Given the description of an element on the screen output the (x, y) to click on. 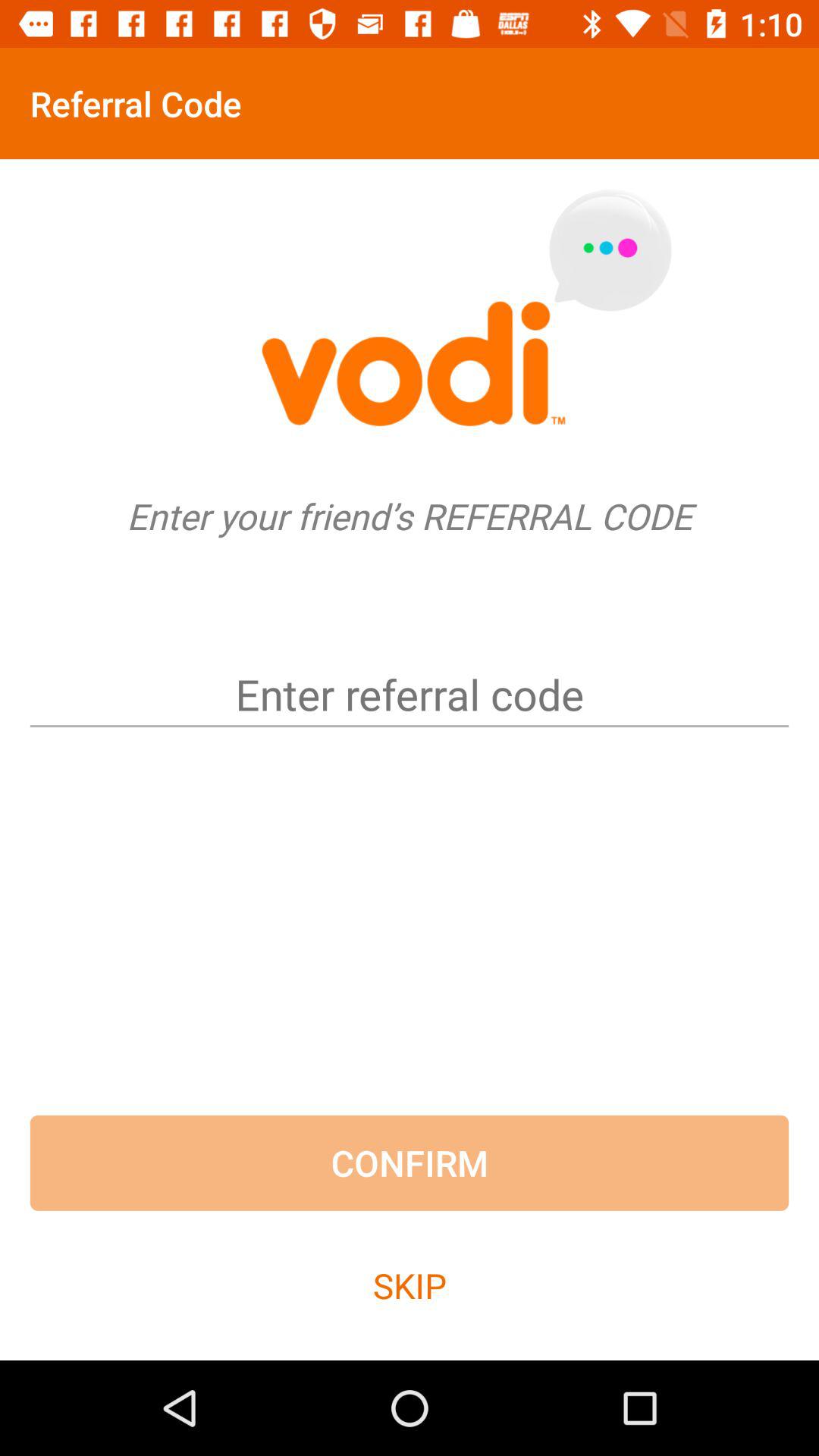
press icon below the enter your friend item (409, 669)
